Given the description of an element on the screen output the (x, y) to click on. 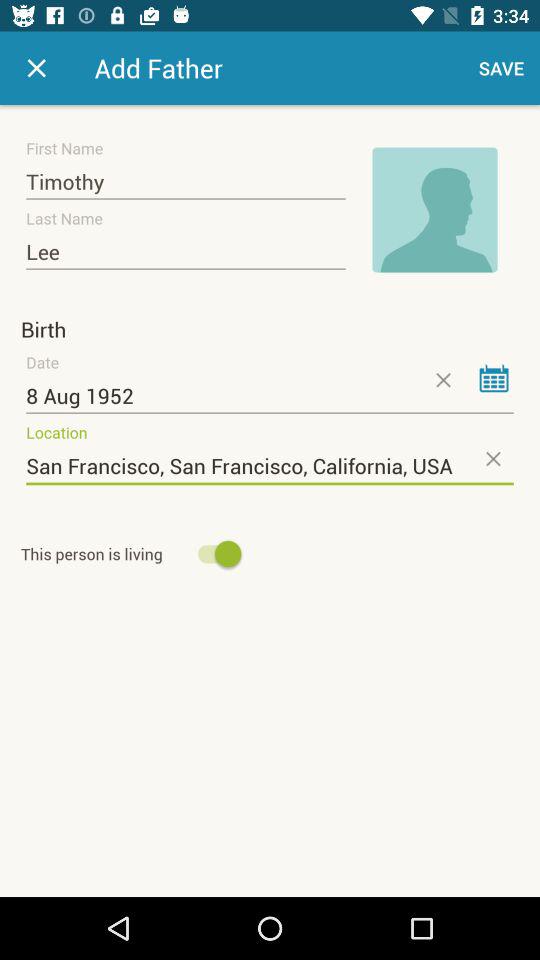
go back (36, 68)
